Given the description of an element on the screen output the (x, y) to click on. 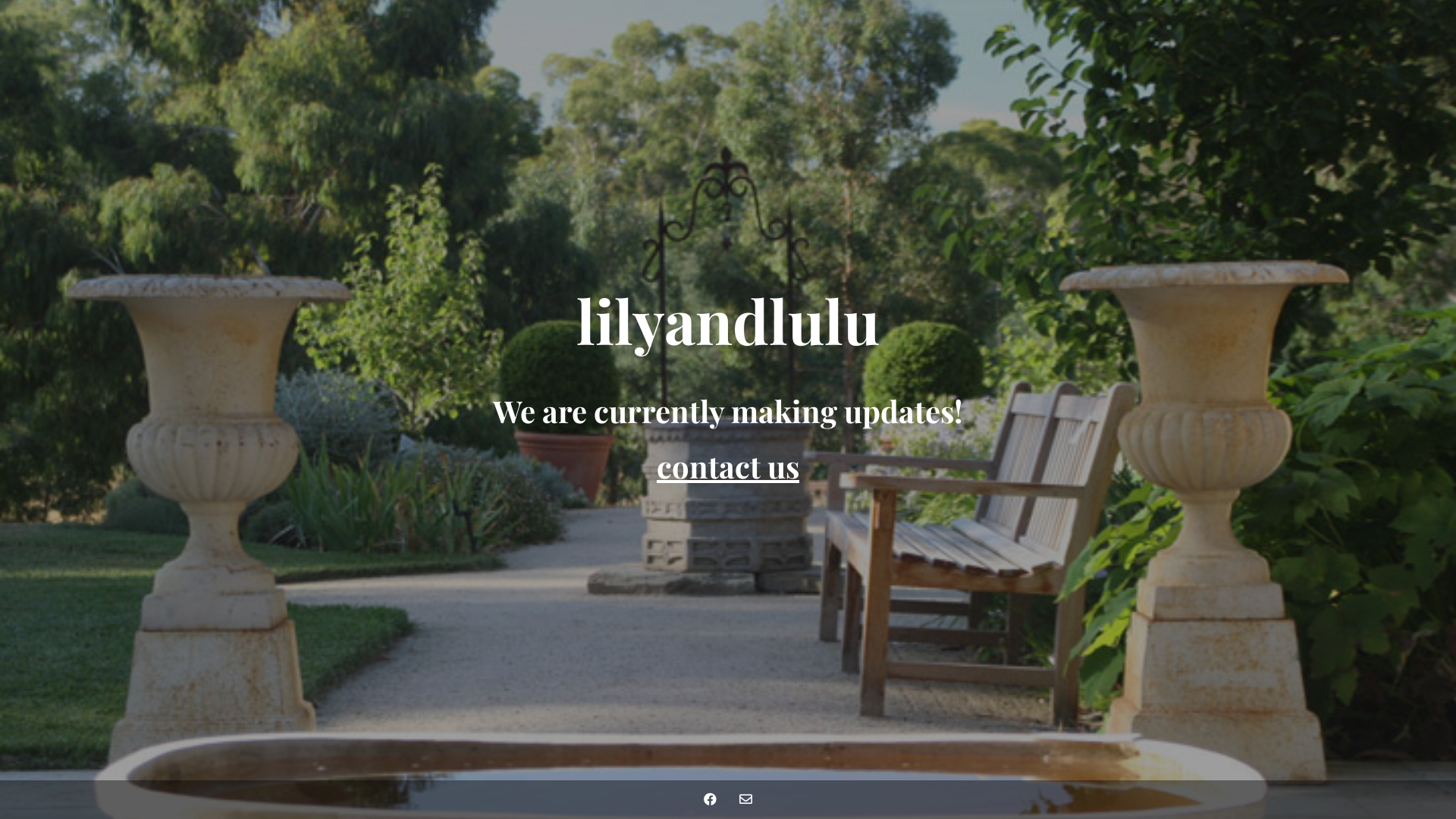
contact us Element type: text (727, 465)
lilyandlulu Element type: text (727, 333)
